Given the description of an element on the screen output the (x, y) to click on. 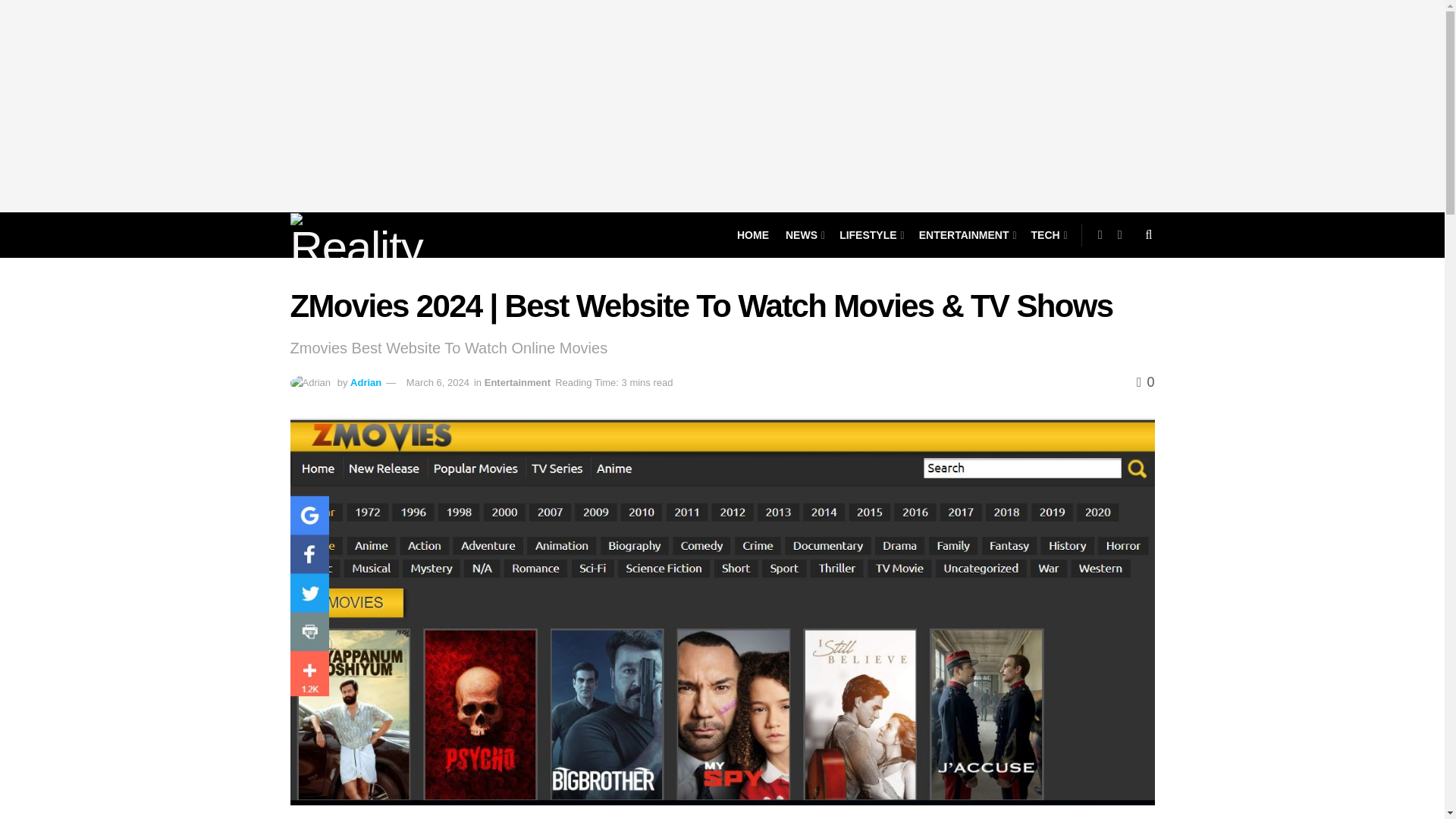
HOME (752, 234)
NEWS (804, 234)
Entertainment (517, 382)
0 (1145, 381)
March 6, 2024 (437, 382)
TECH (1047, 234)
ENTERTAINMENT (966, 234)
Adrian (365, 382)
LIFESTYLE (871, 234)
